Given the description of an element on the screen output the (x, y) to click on. 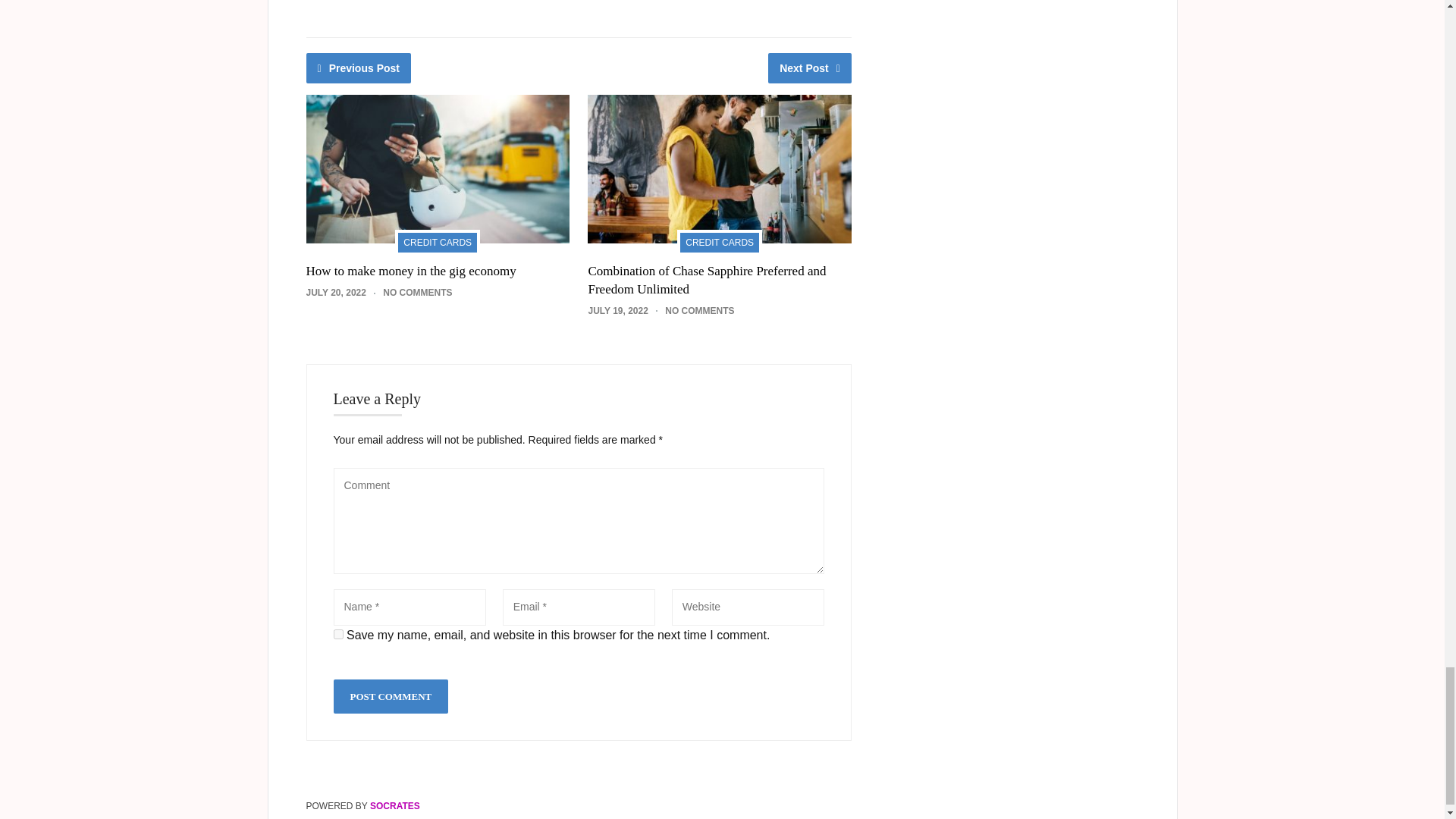
Previous Post (358, 68)
How to make money in the gig economy (410, 270)
NO COMMENTS (416, 292)
Post Comment (390, 696)
Post Comment (390, 696)
CREDIT CARDS (437, 241)
NO COMMENTS (699, 310)
SOCRATES (394, 805)
CREDIT CARDS (719, 241)
